Given the description of an element on the screen output the (x, y) to click on. 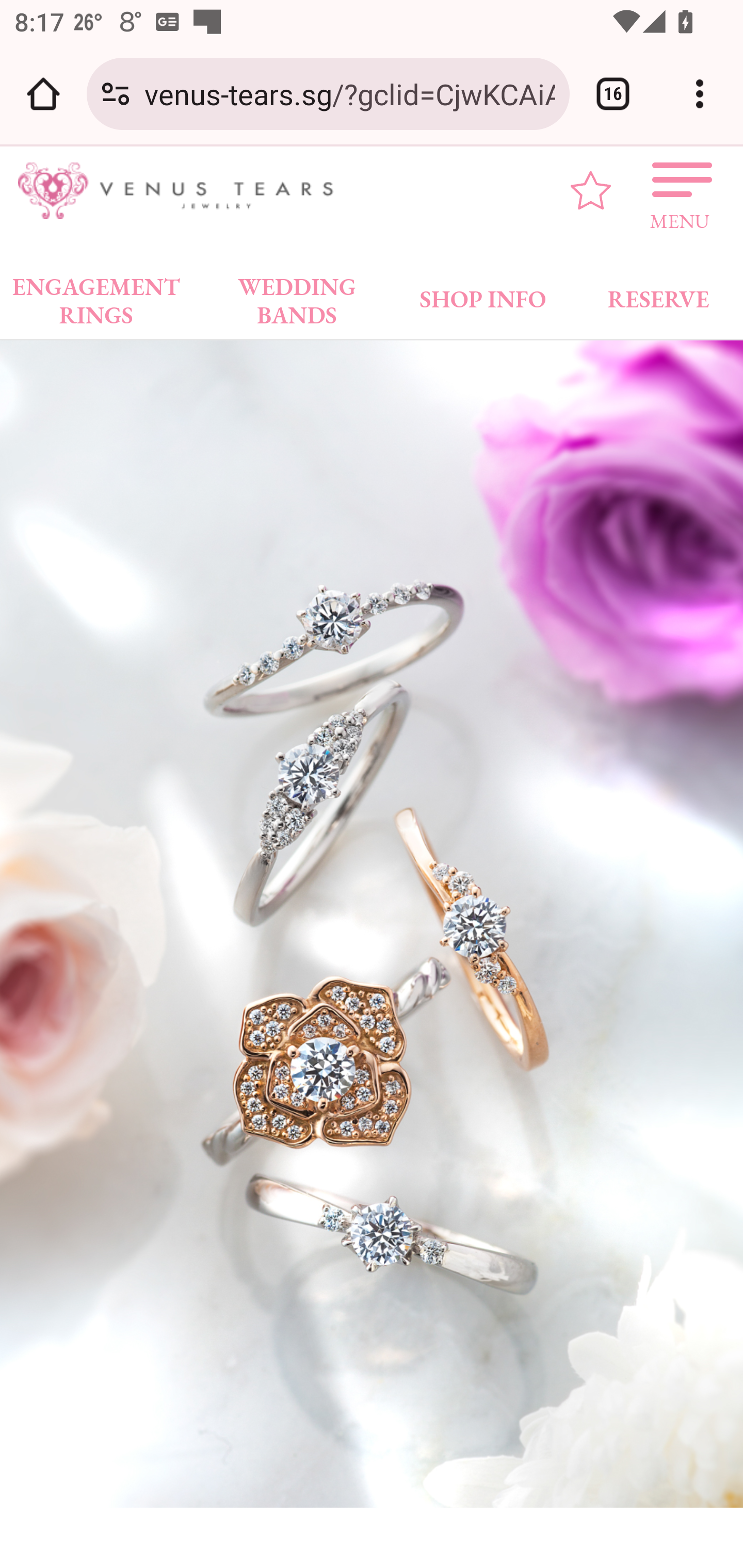
Open the home page (43, 93)
Connection is secure (115, 93)
Switch or close tabs (612, 93)
Customize and control Google Chrome (699, 93)
favourite (591, 190)
VENUS TEARS (181, 191)
ENGAGEMENT RINGS ENGAGEMENT RINGS (96, 295)
WEDDING BANDS WEDDING BANDS (296, 295)
SHOP INFO (482, 294)
RESERVE (657, 294)
